Given the description of an element on the screen output the (x, y) to click on. 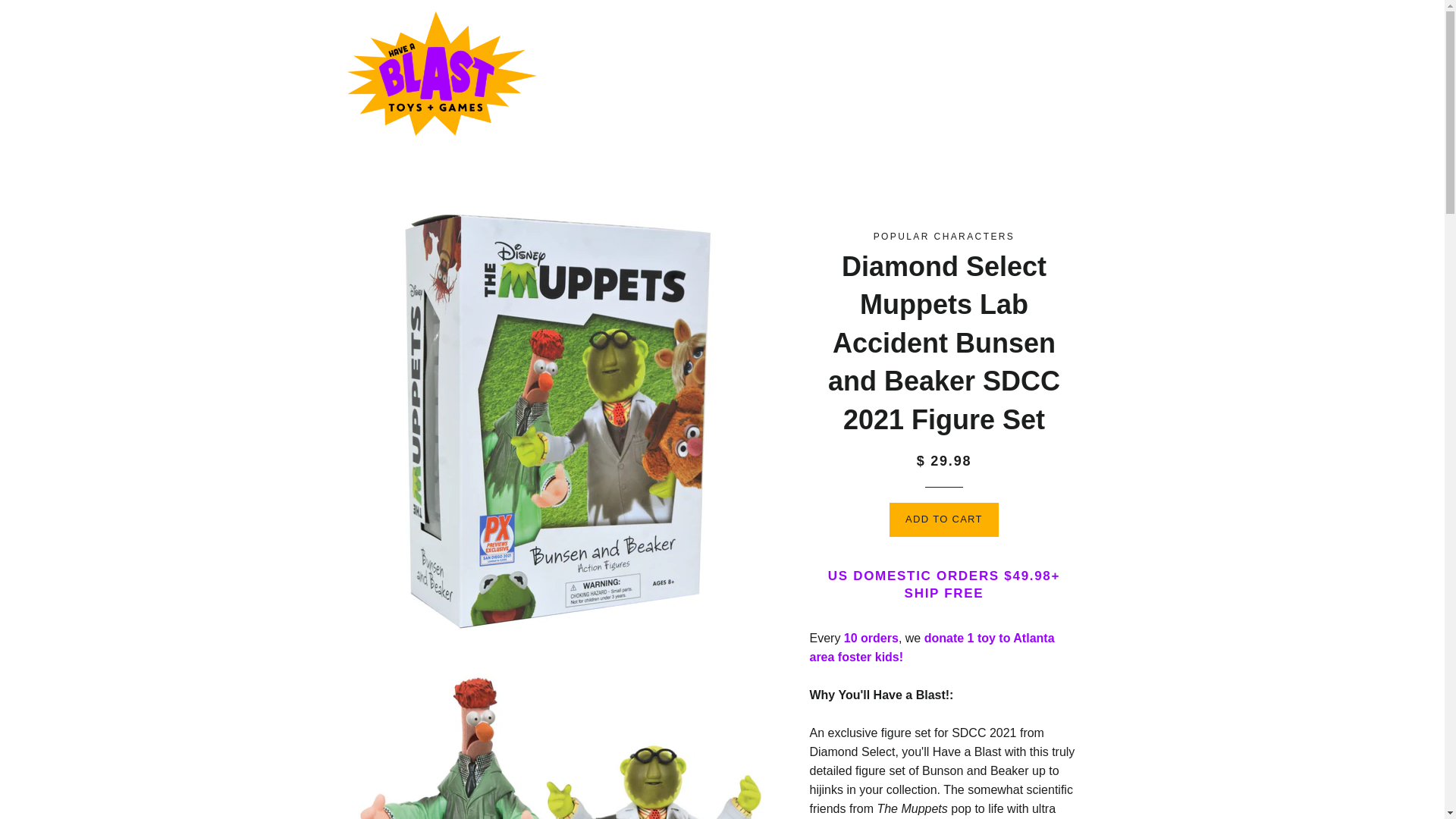
ADD TO CART (943, 519)
